Given the description of an element on the screen output the (x, y) to click on. 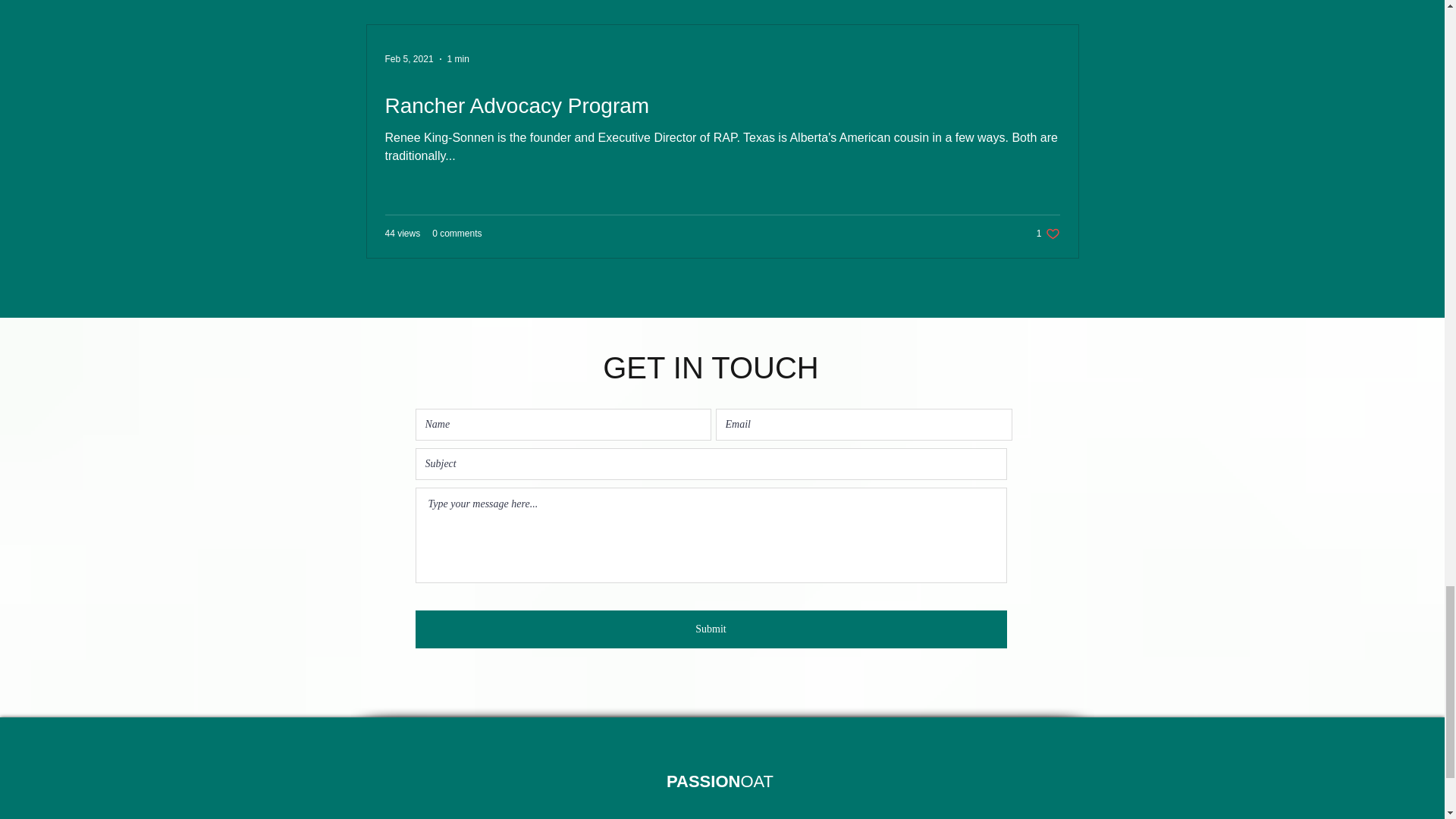
Submit (710, 629)
0 comments (456, 233)
PASSIONOAT (719, 781)
Rancher Advocacy Program (722, 105)
Feb 5, 2021 (409, 59)
1 min (1047, 233)
